Given the description of an element on the screen output the (x, y) to click on. 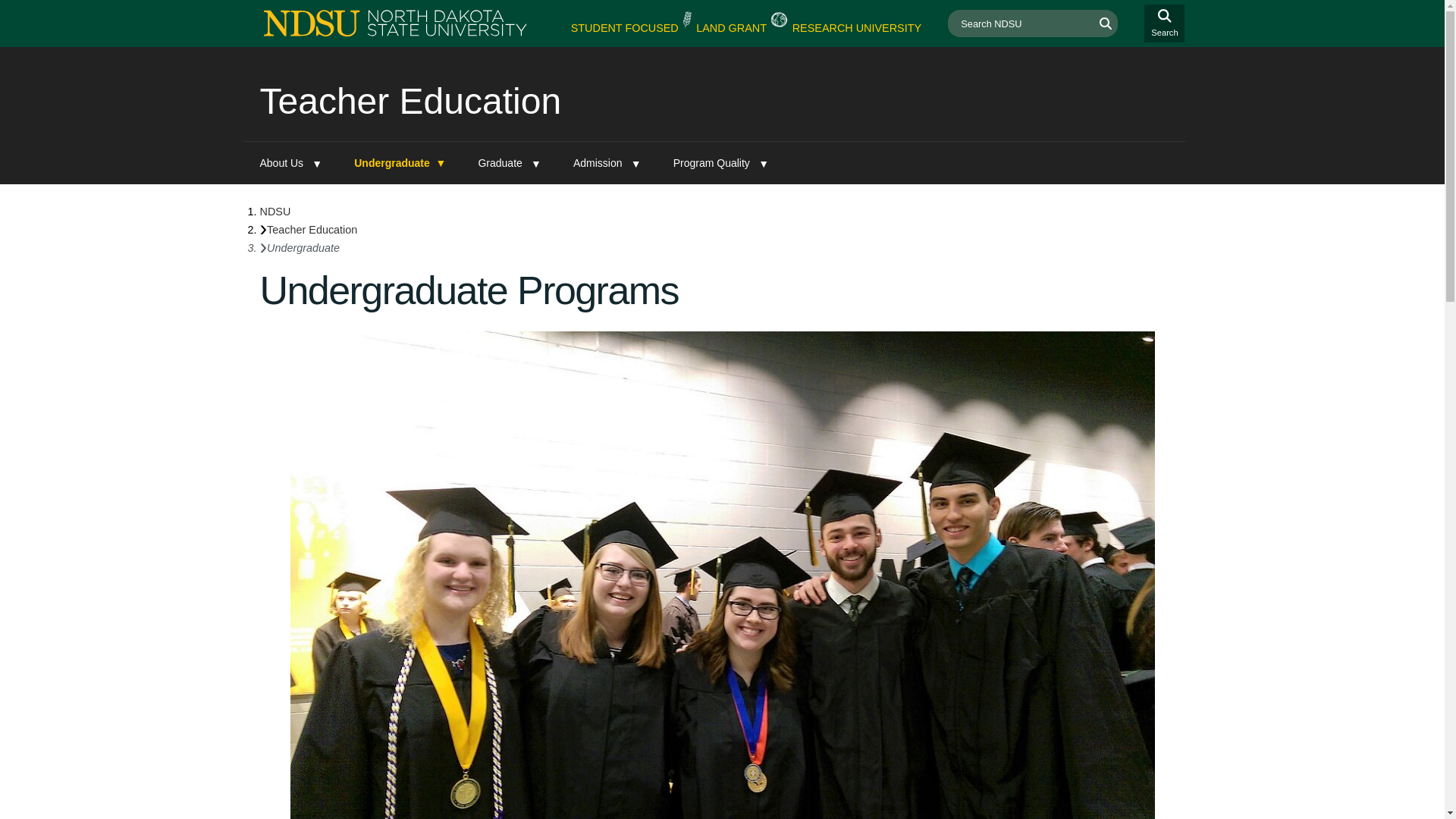
Teacher Education (311, 229)
Teacher Education (409, 101)
North Dakota State University (274, 211)
RESEARCH UNIVERSITY (856, 28)
Submit (1105, 22)
About Us (291, 162)
STUDENT FOCUSED (624, 28)
LAND GRANT (731, 28)
